Given the description of an element on the screen output the (x, y) to click on. 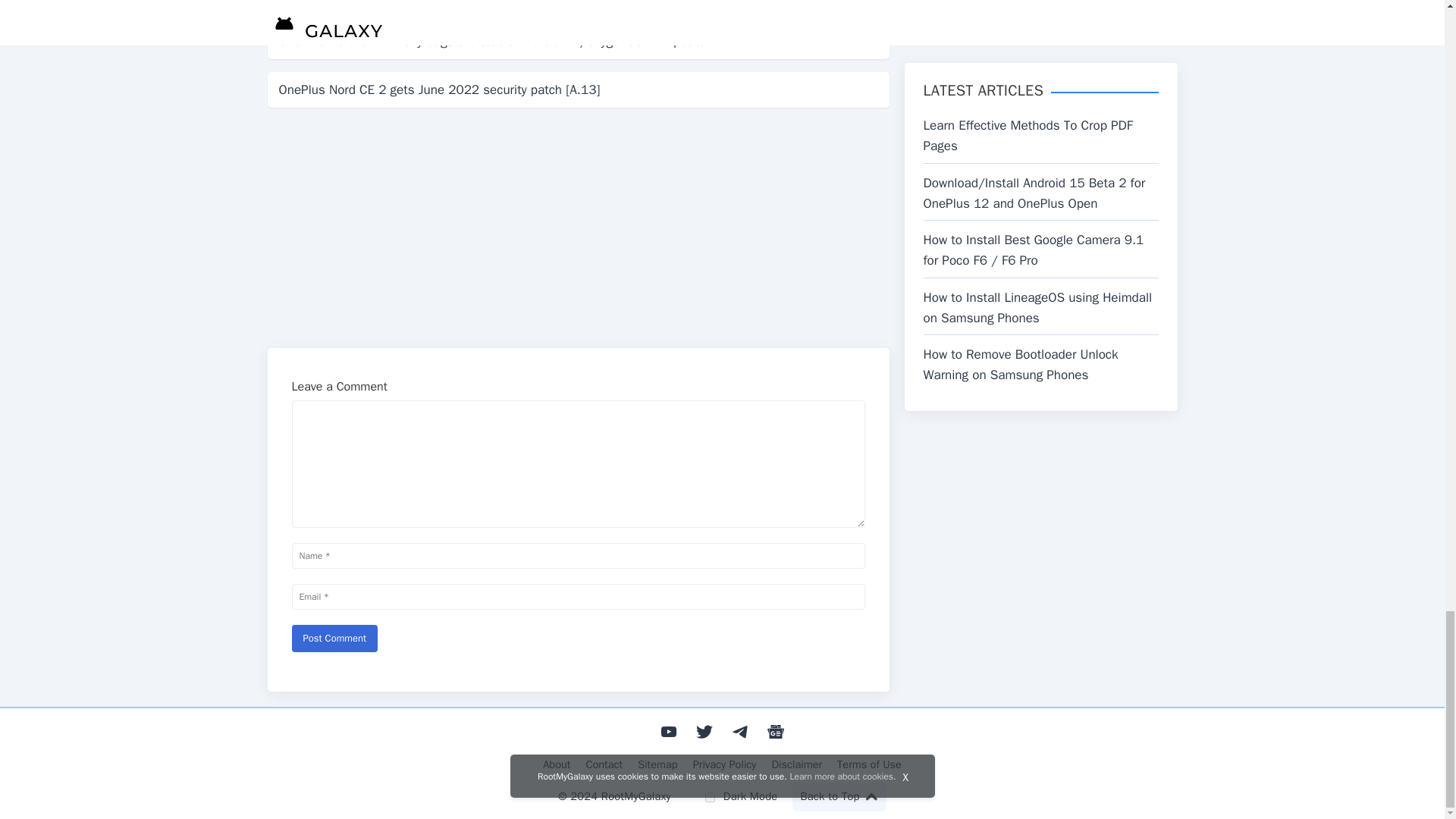
Advertisement (577, 226)
on (709, 797)
Post Comment (334, 637)
